Given the description of an element on the screen output the (x, y) to click on. 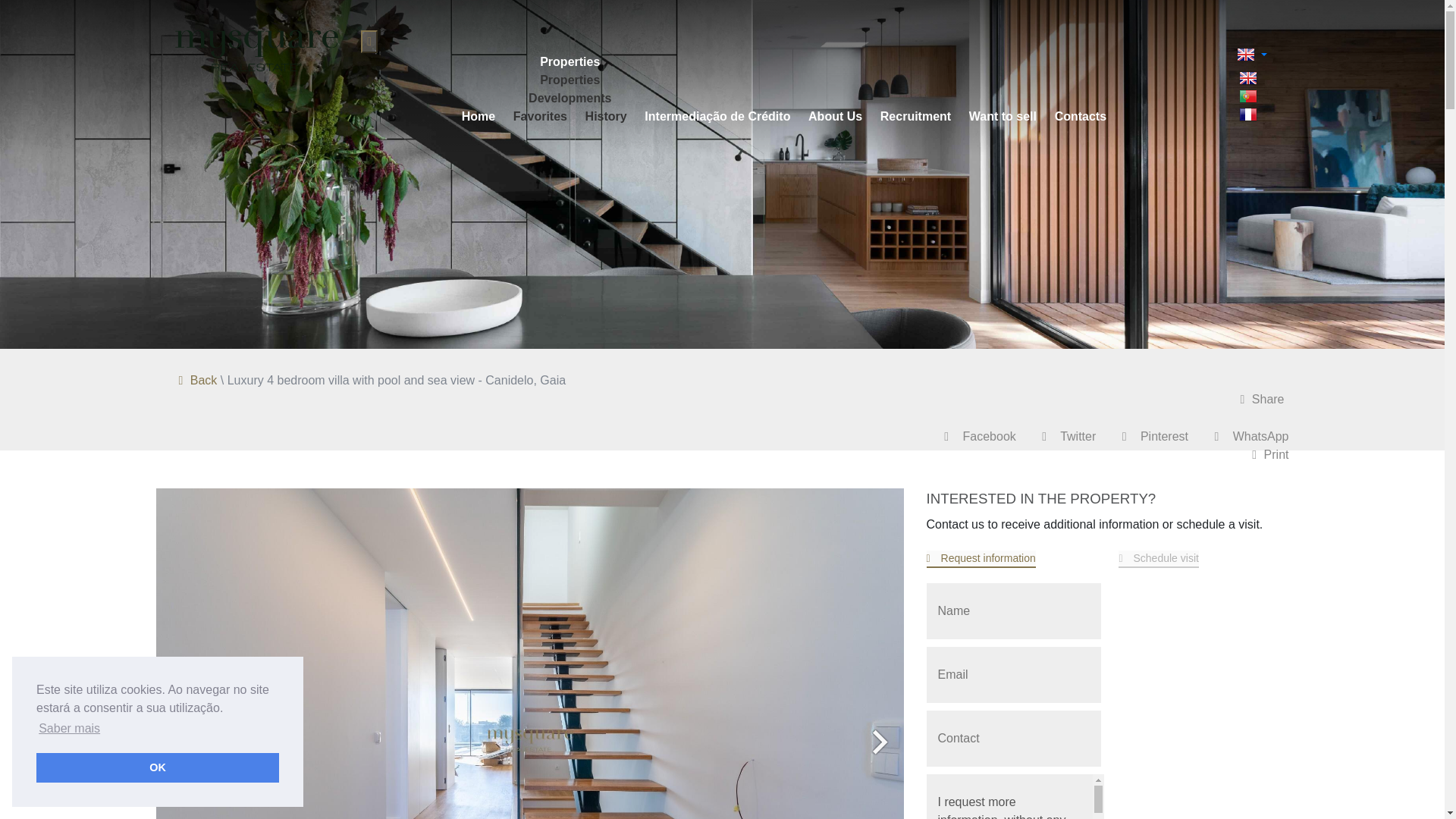
Request information (980, 559)
Back (197, 379)
OK (157, 767)
Recruitment (915, 115)
History (605, 115)
Print (1270, 454)
Properties (569, 61)
Home (478, 115)
   WhatsApp (1251, 436)
   Pinterest (1155, 436)
Saber mais (68, 728)
   Twitter (1069, 436)
